Given the description of an element on the screen output the (x, y) to click on. 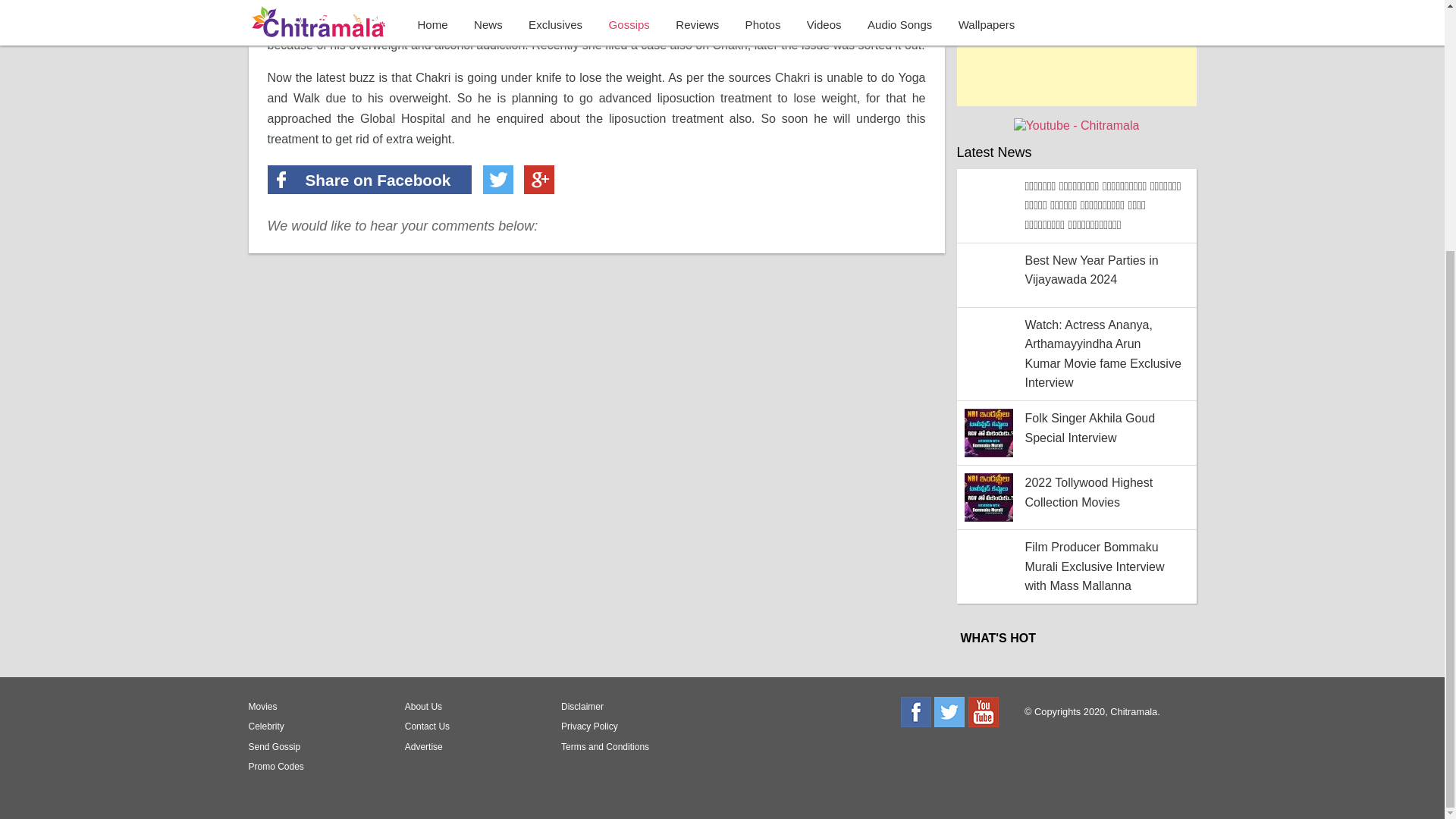
Advertisement (1076, 53)
Advertise (469, 746)
Best New Year Parties in Vijayawada 2024 (1076, 275)
Share on Facebook (368, 179)
Contact Us (469, 726)
Chitramala on Facebook (916, 711)
Terms and Conditions (626, 746)
About Us (469, 706)
Share on GooglePlus (539, 179)
Youtube - Chitramala (1076, 124)
Share on Whatsapp (580, 179)
Youtube - Chitramala (1076, 124)
Chitramala on Twitter (948, 711)
Movies (314, 706)
